Given the description of an element on the screen output the (x, y) to click on. 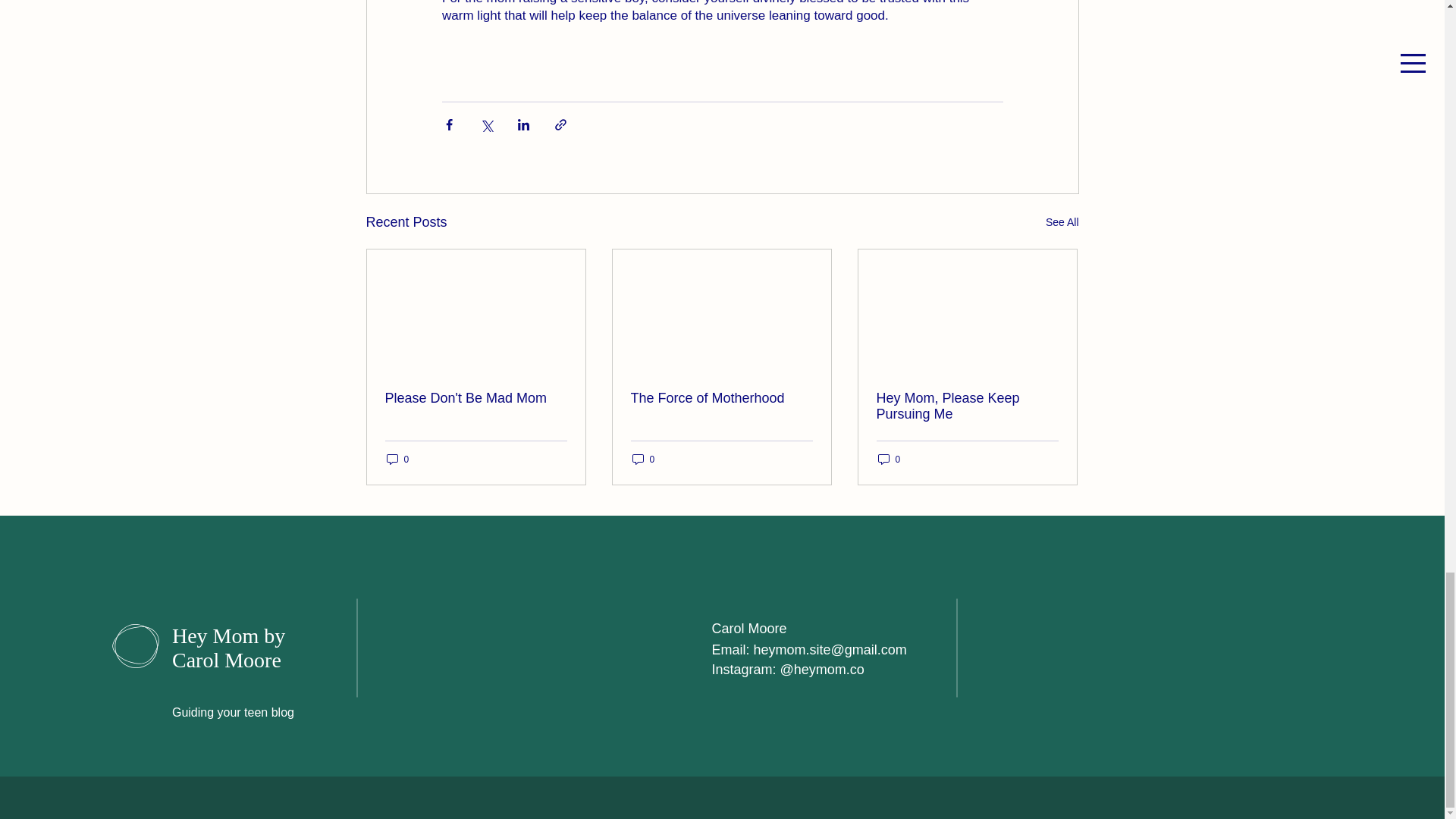
0 (397, 459)
0 (643, 459)
The Force of Motherhood (721, 398)
Please Don't Be Mad Mom (476, 398)
0 (889, 459)
Hey Mom, Please Keep Pursuing Me (967, 406)
See All (1061, 222)
